Given the description of an element on the screen output the (x, y) to click on. 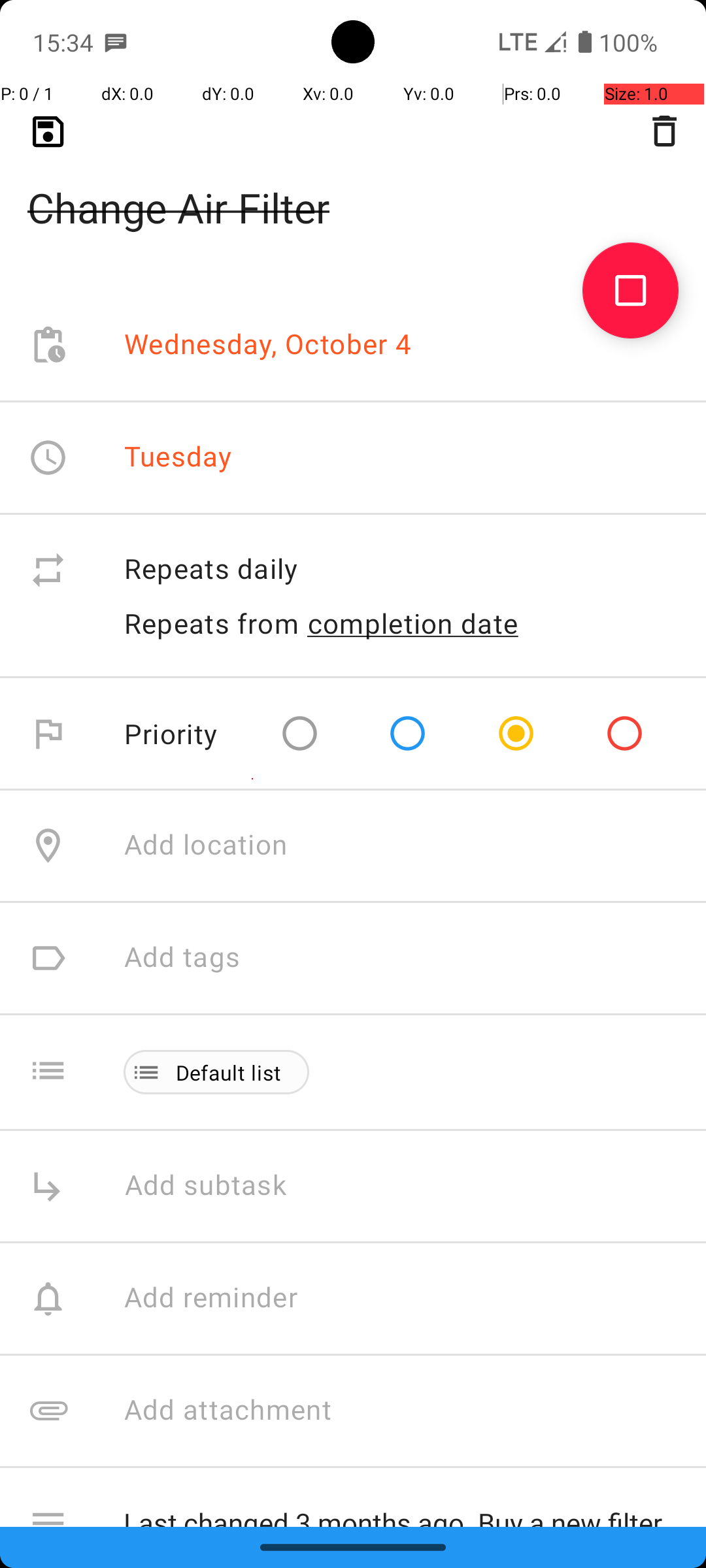
Wednesday, October 4 Element type: android.widget.TextView (267, 344)
Repeats daily Element type: android.widget.TextView (400, 569)
Repeats from Element type: android.widget.TextView (211, 622)
completion date Element type: android.widget.TextView (413, 623)
